Given the description of an element on the screen output the (x, y) to click on. 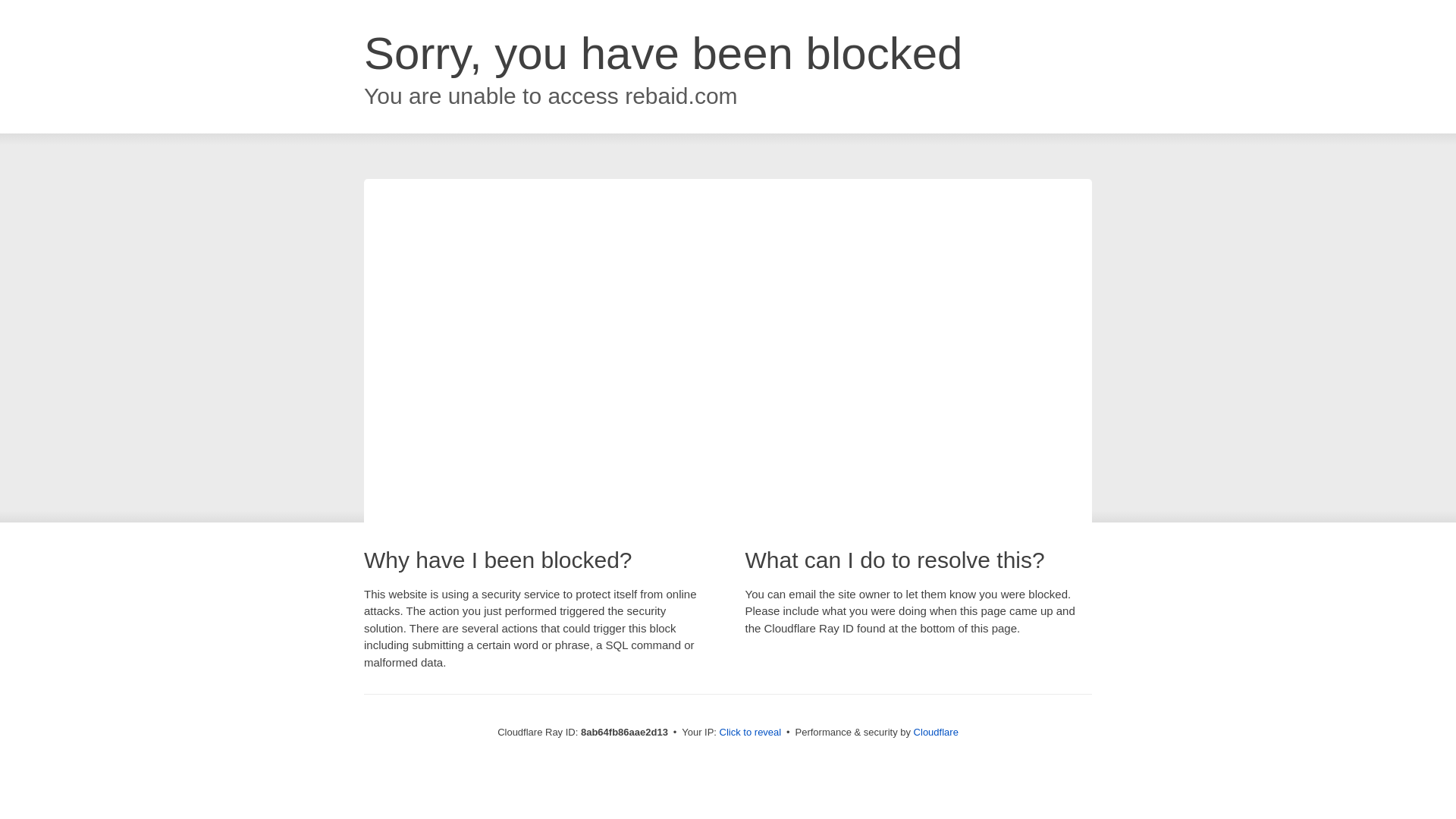
Click to reveal (750, 732)
Cloudflare (936, 731)
